Given the description of an element on the screen output the (x, y) to click on. 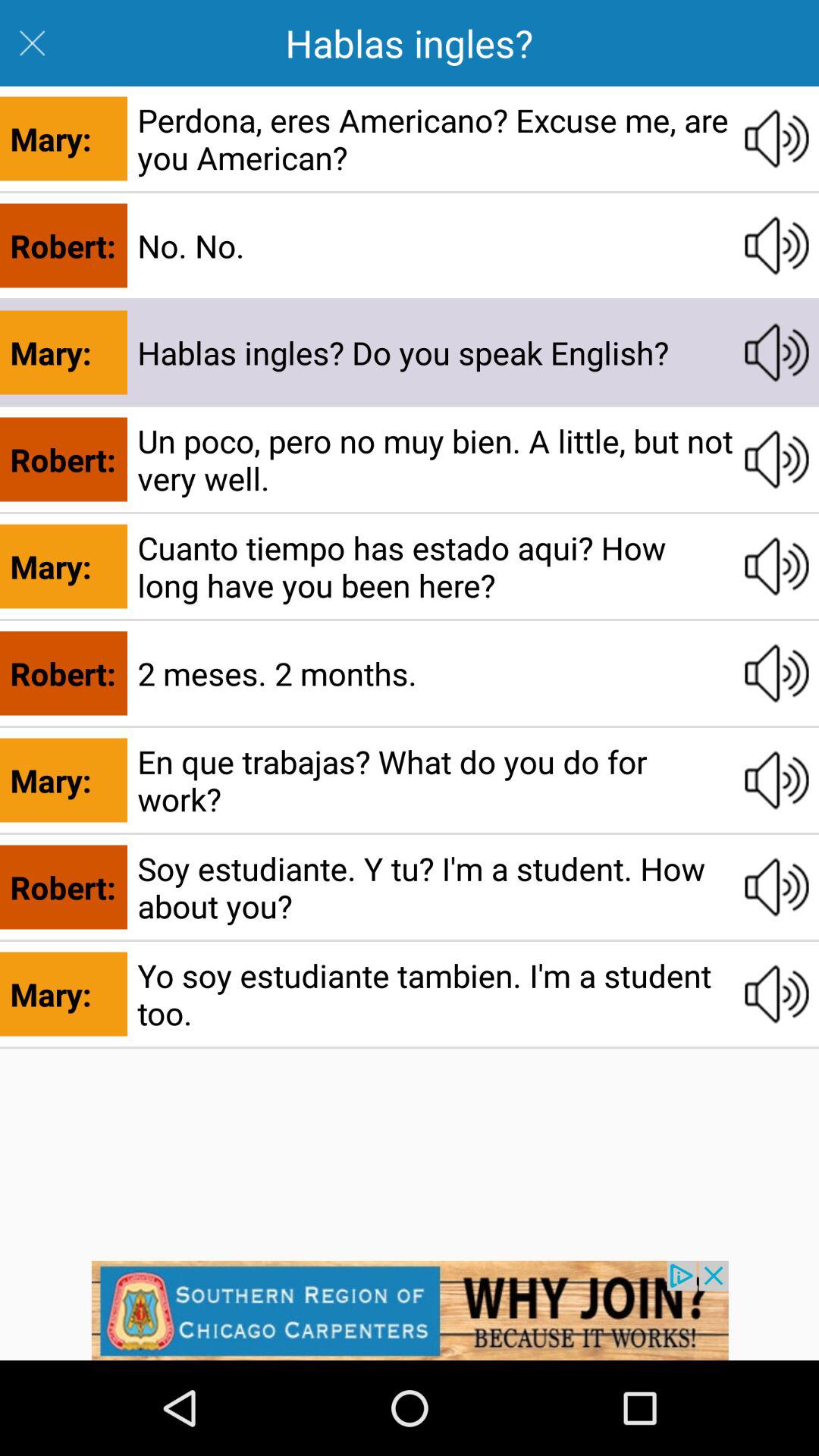
second sound button (776, 245)
